Given the description of an element on the screen output the (x, y) to click on. 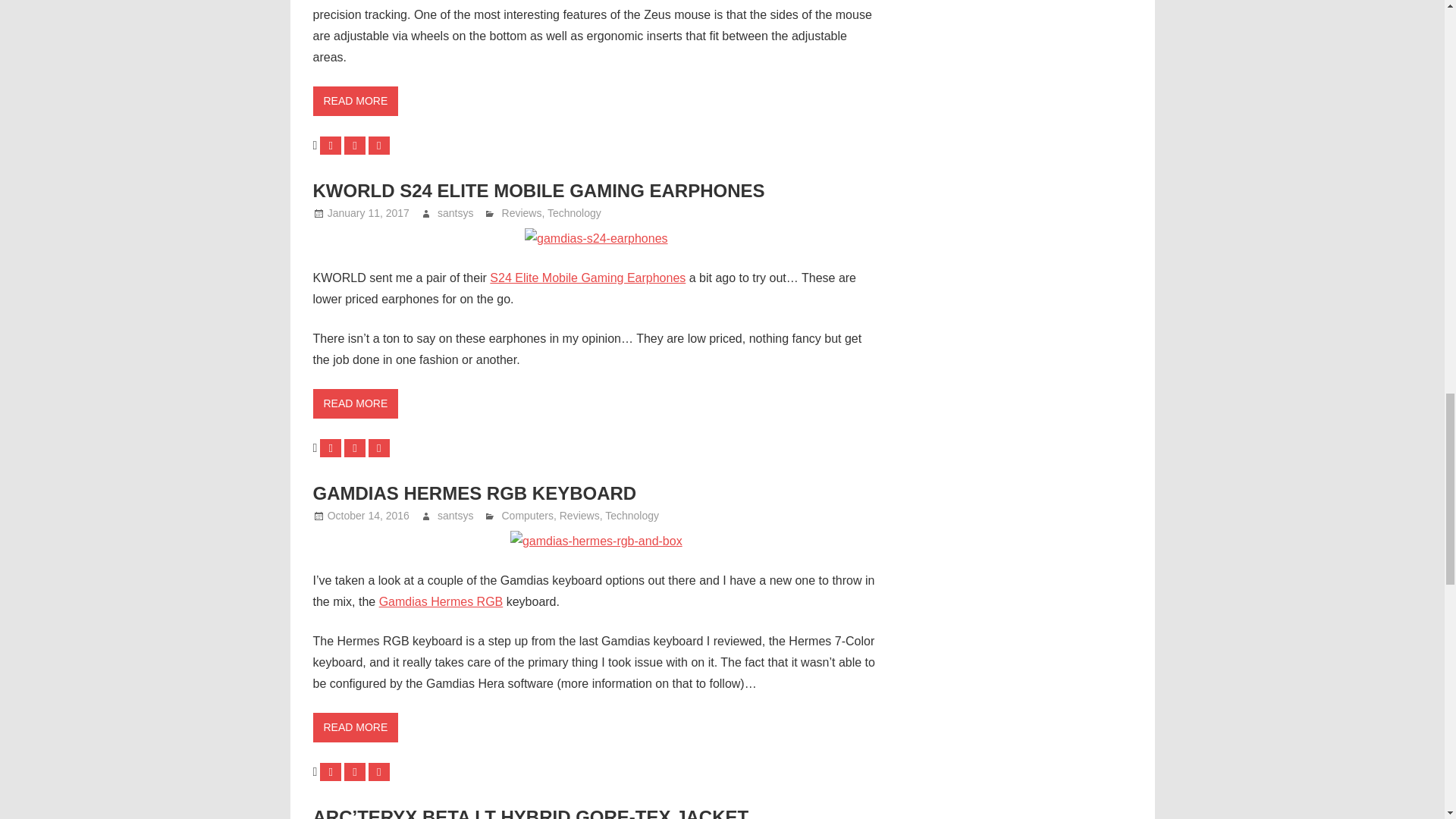
7:29 am (368, 515)
View all posts by santsys (455, 213)
View all posts by santsys (455, 515)
12:59 pm (368, 213)
